Given the description of an element on the screen output the (x, y) to click on. 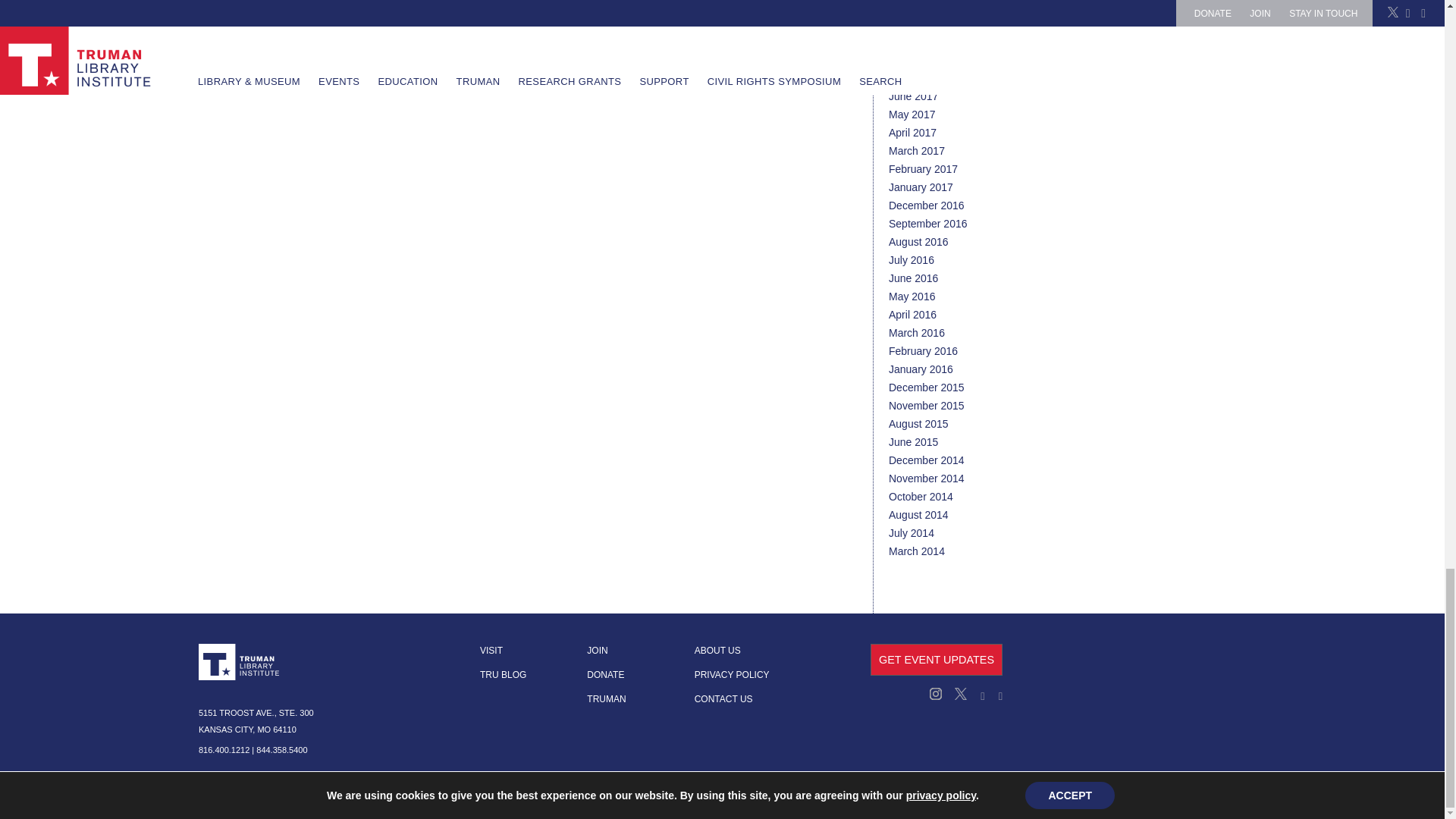
View Privacy Policy (355, 799)
Facebook (976, 695)
Twitter (955, 695)
YouTube (995, 695)
instagram (937, 695)
Truman Library Institute. Go back to the home page. (240, 661)
